Given the description of an element on the screen output the (x, y) to click on. 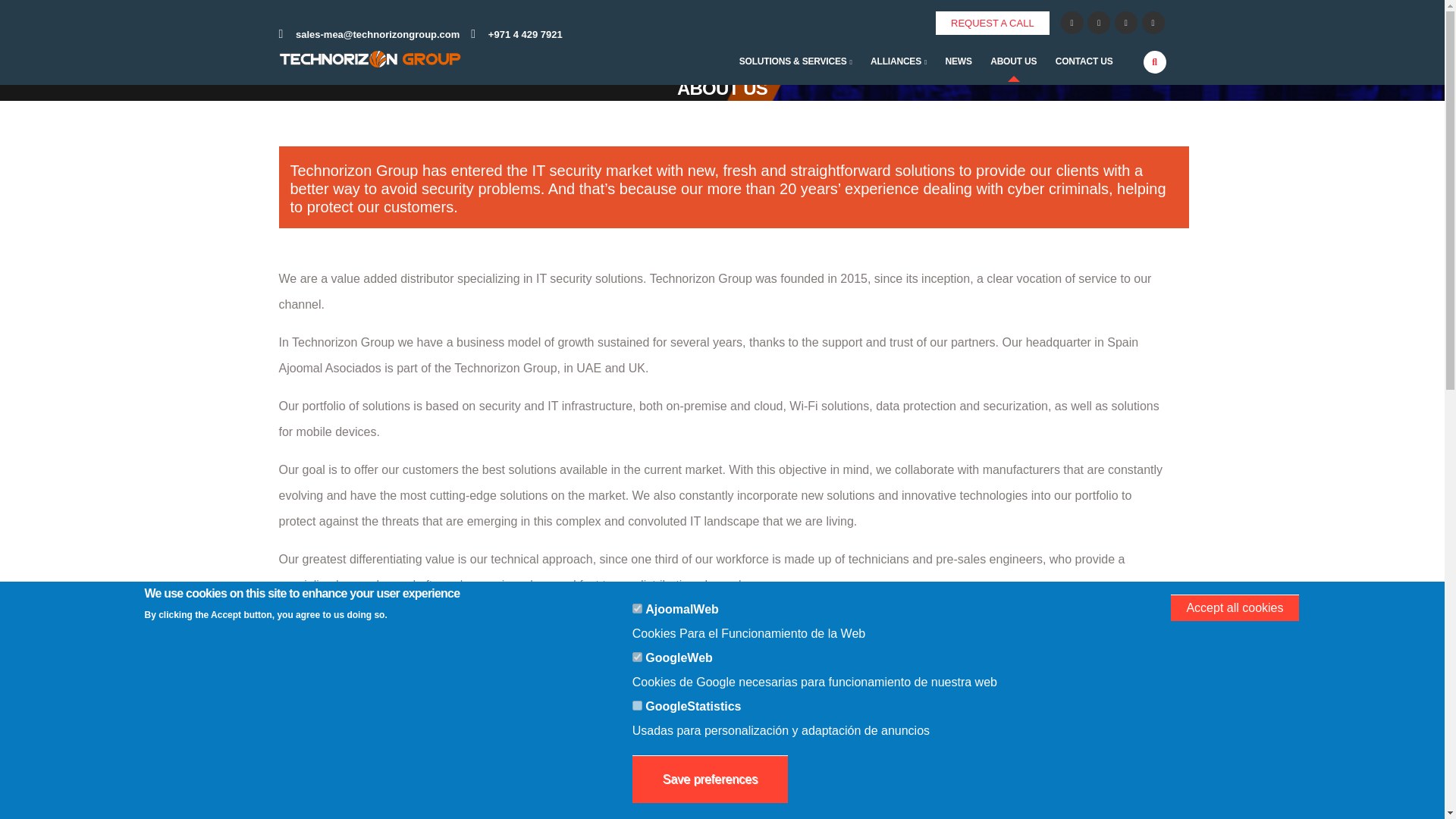
ALLIANCES (898, 60)
googleweb (636, 656)
Home (370, 61)
ajoomalweb (636, 608)
REQUEST A CALL (992, 23)
googlestatistics (636, 705)
